Given the description of an element on the screen output the (x, y) to click on. 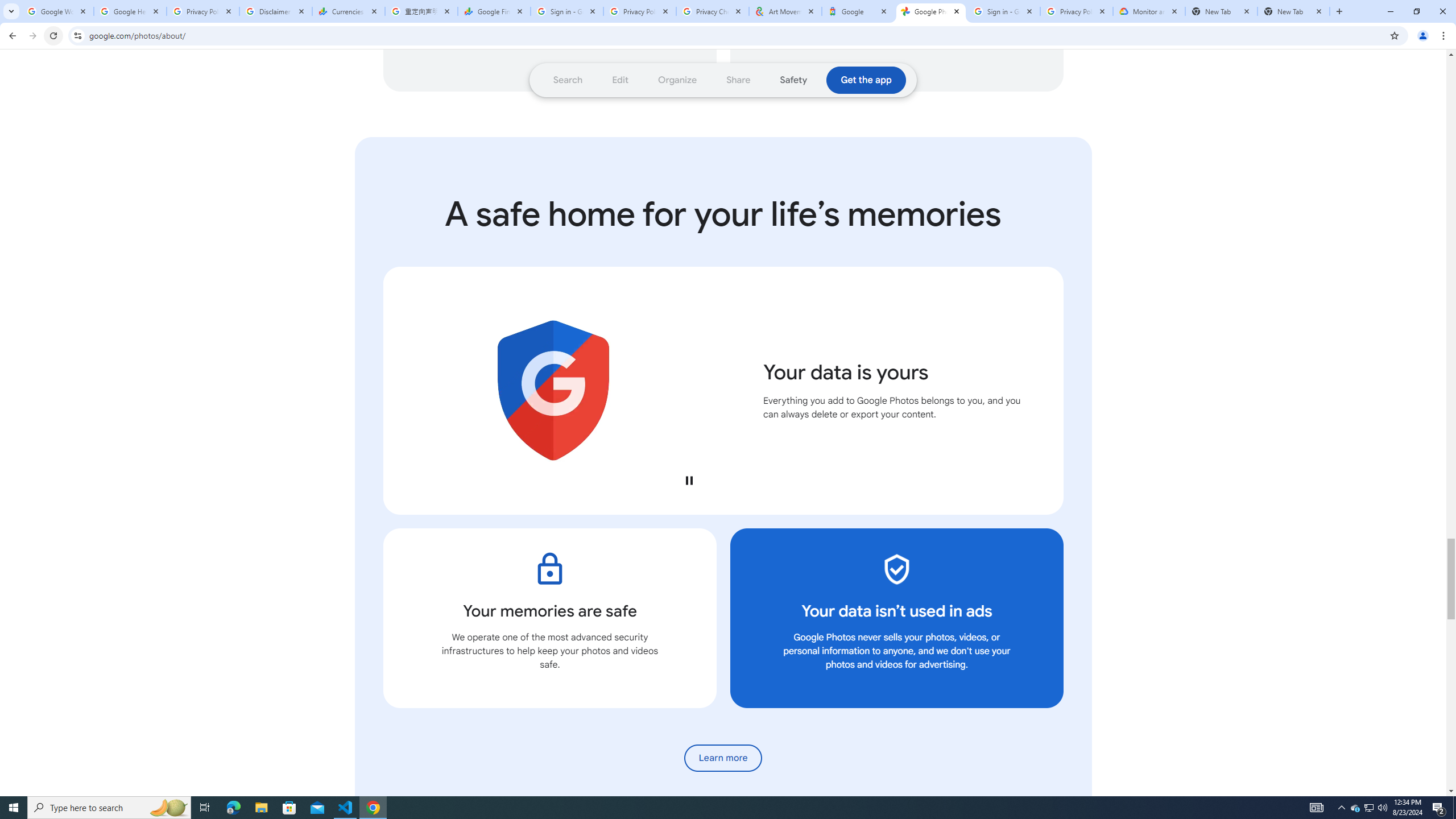
Privacy Checkup (712, 11)
Learn more about Google Photos security  (723, 757)
Google Workspace Admin Community (57, 11)
Go to section: Share (737, 80)
